Given the description of an element on the screen output the (x, y) to click on. 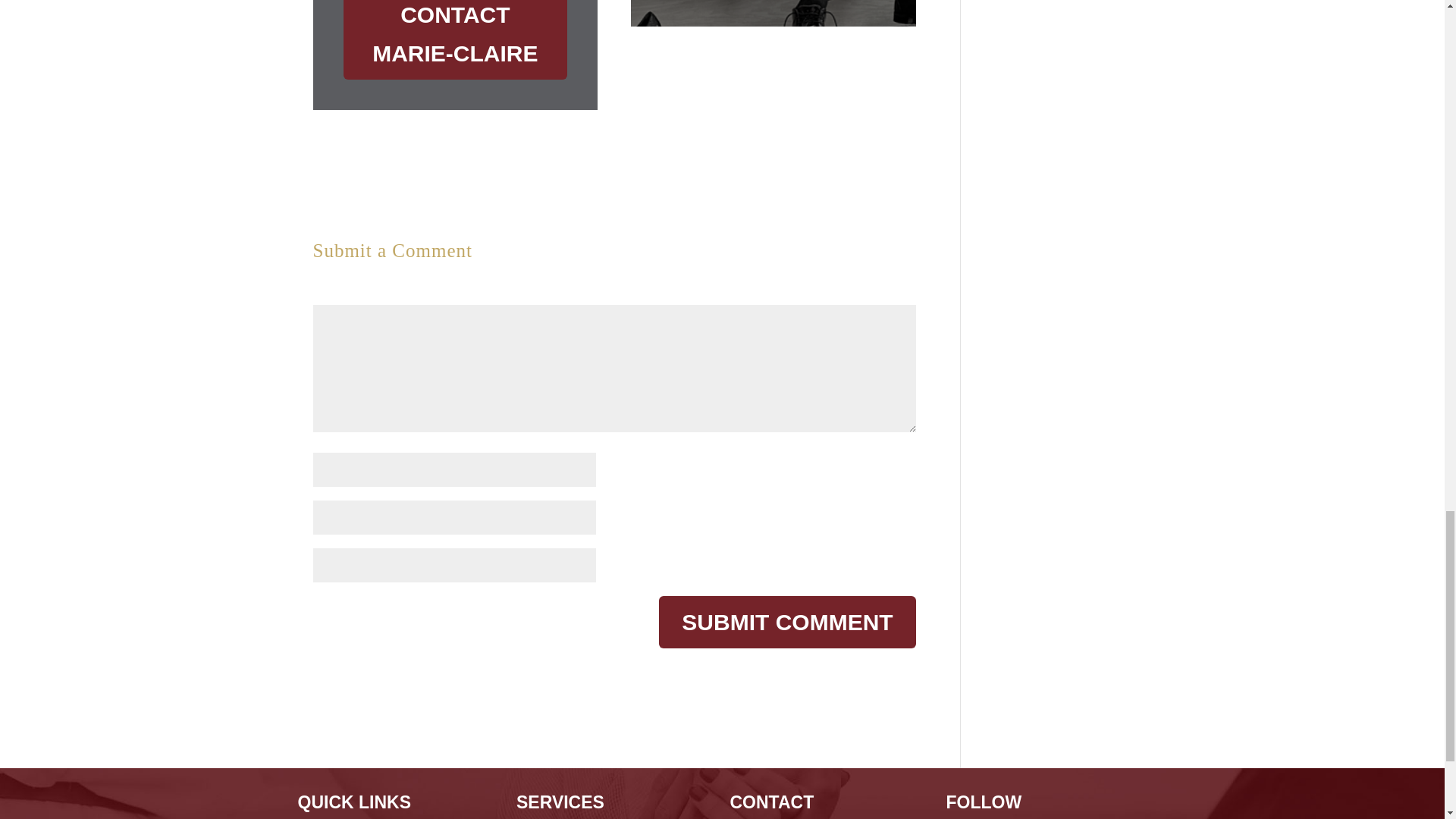
READ MORE (772, 3)
Submit Comment (787, 622)
CONTACT MARIE-CLAIRE (454, 39)
